Given the description of an element on the screen output the (x, y) to click on. 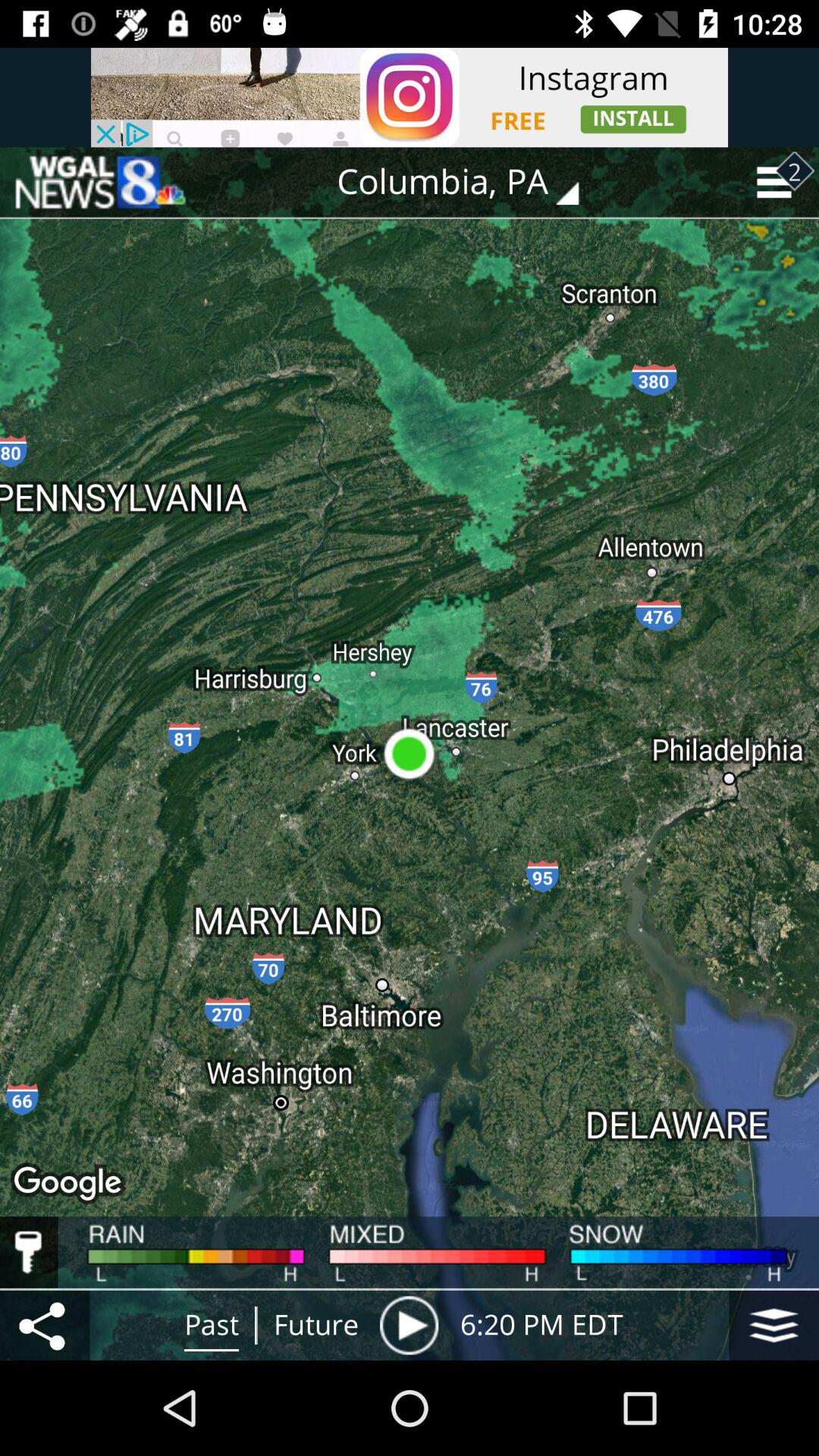
location pin (409, 1325)
